Given the description of an element on the screen output the (x, y) to click on. 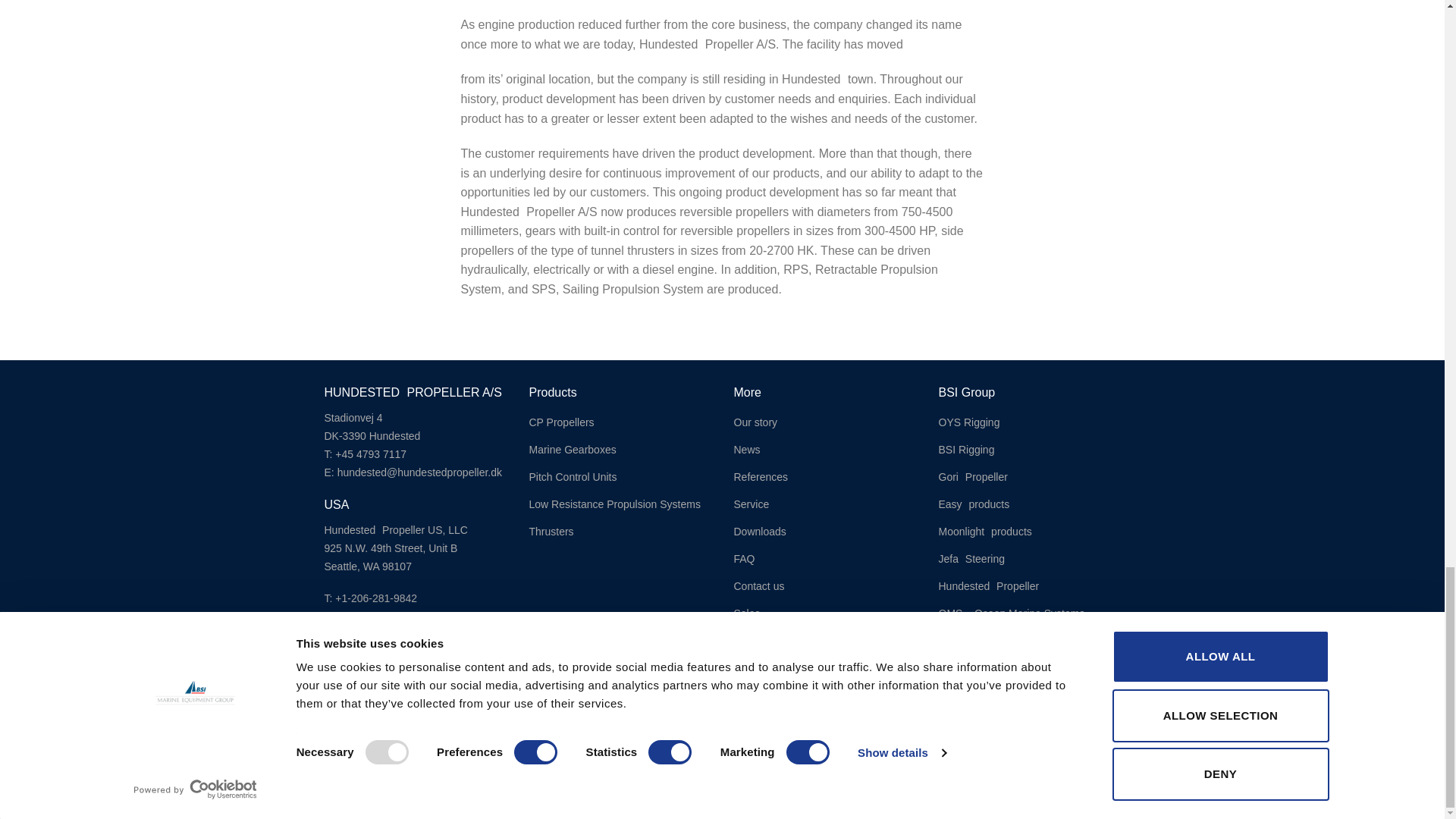
null (390, 616)
Follow on YouTube (1100, 739)
Follow on Facebook (1017, 739)
Follow on LinkedIn (1059, 739)
null (399, 648)
